Given the description of an element on the screen output the (x, y) to click on. 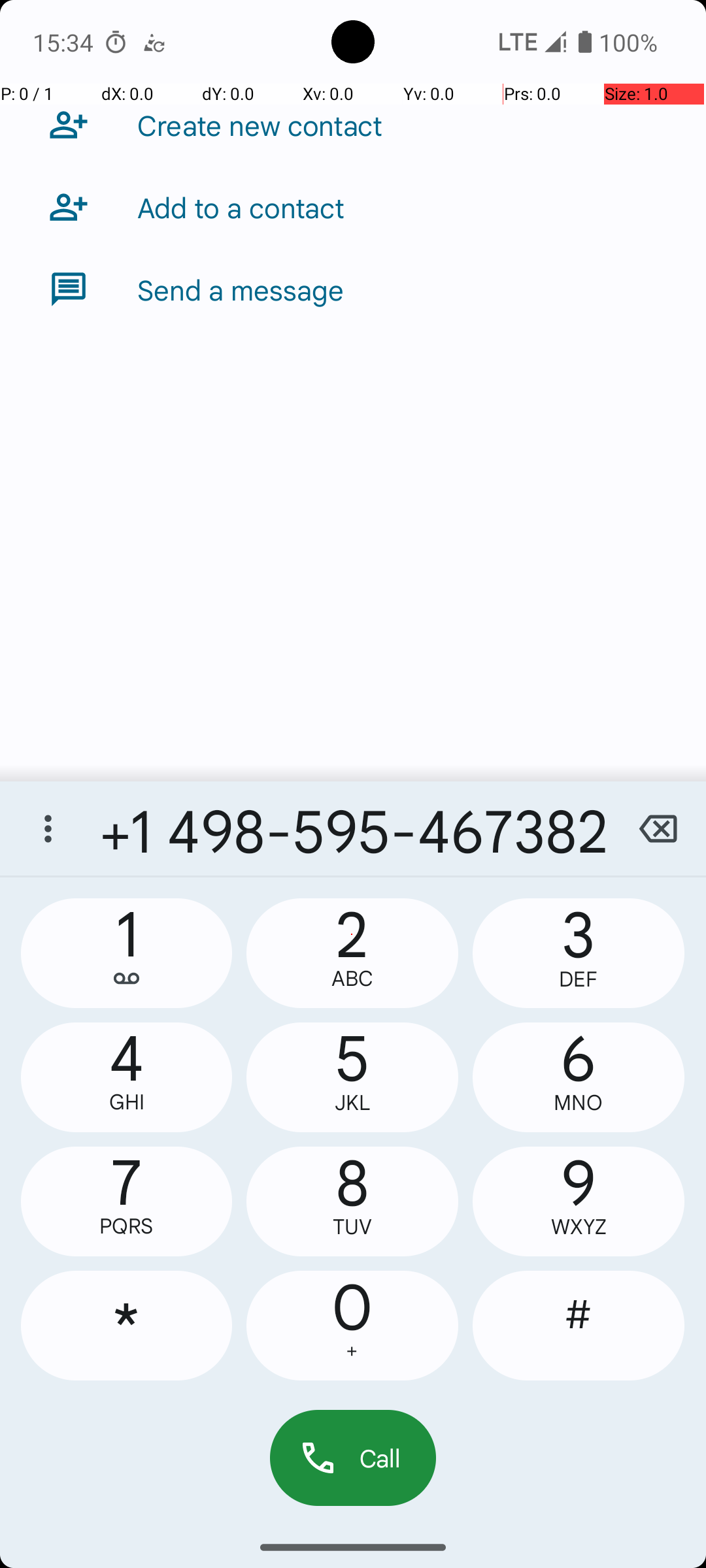
+1 498-595-467382 Element type: android.widget.EditText (352, 828)
